Given the description of an element on the screen output the (x, y) to click on. 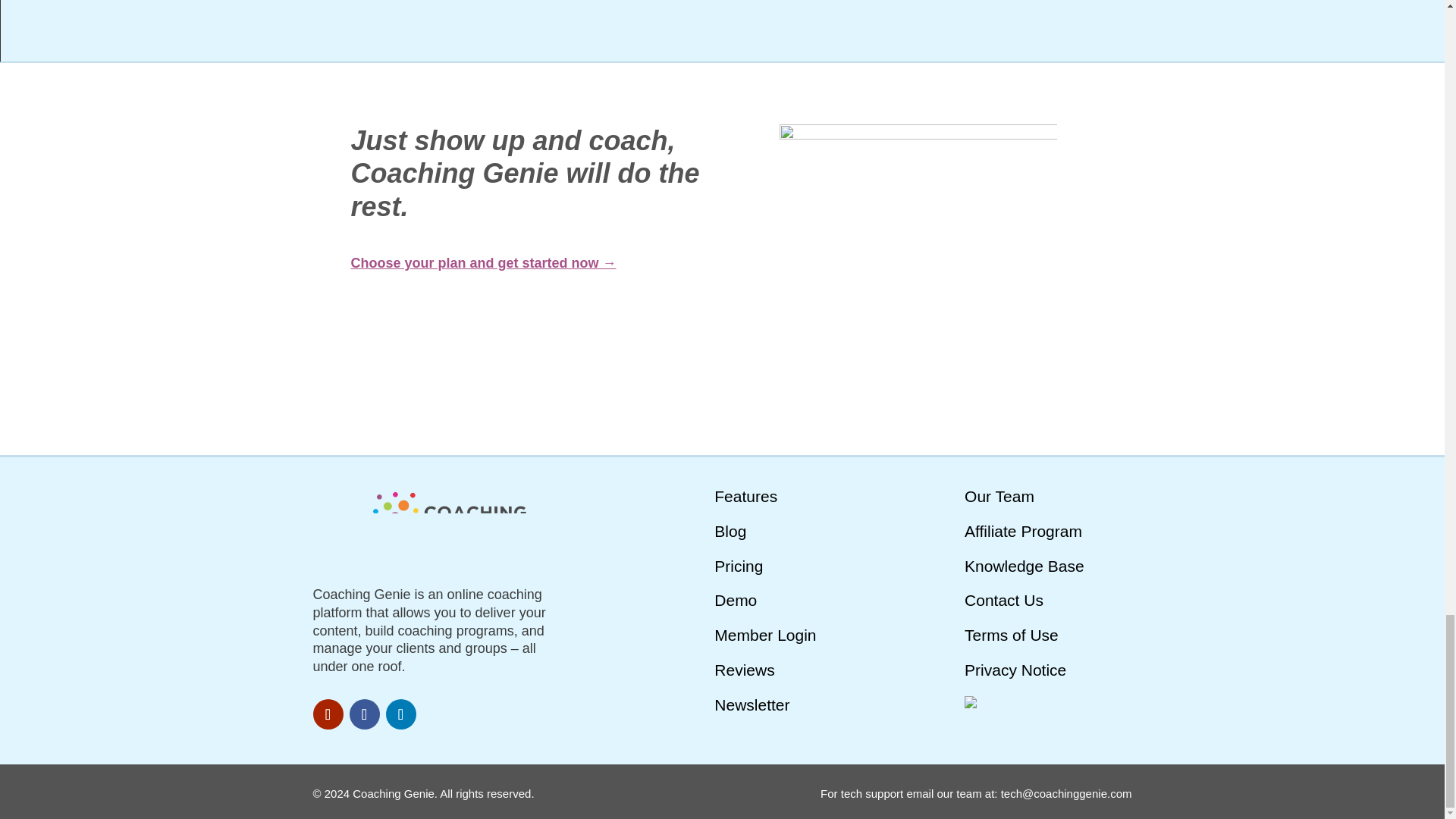
clientview (917, 263)
Reviews (744, 669)
Demo (735, 600)
Privacy Notice (1014, 669)
Terms of Use (1010, 634)
Affiliate Program (1022, 530)
Features (745, 496)
Follow on Facebook (363, 714)
Blog (729, 530)
Contact Us (1003, 600)
